Given the description of an element on the screen output the (x, y) to click on. 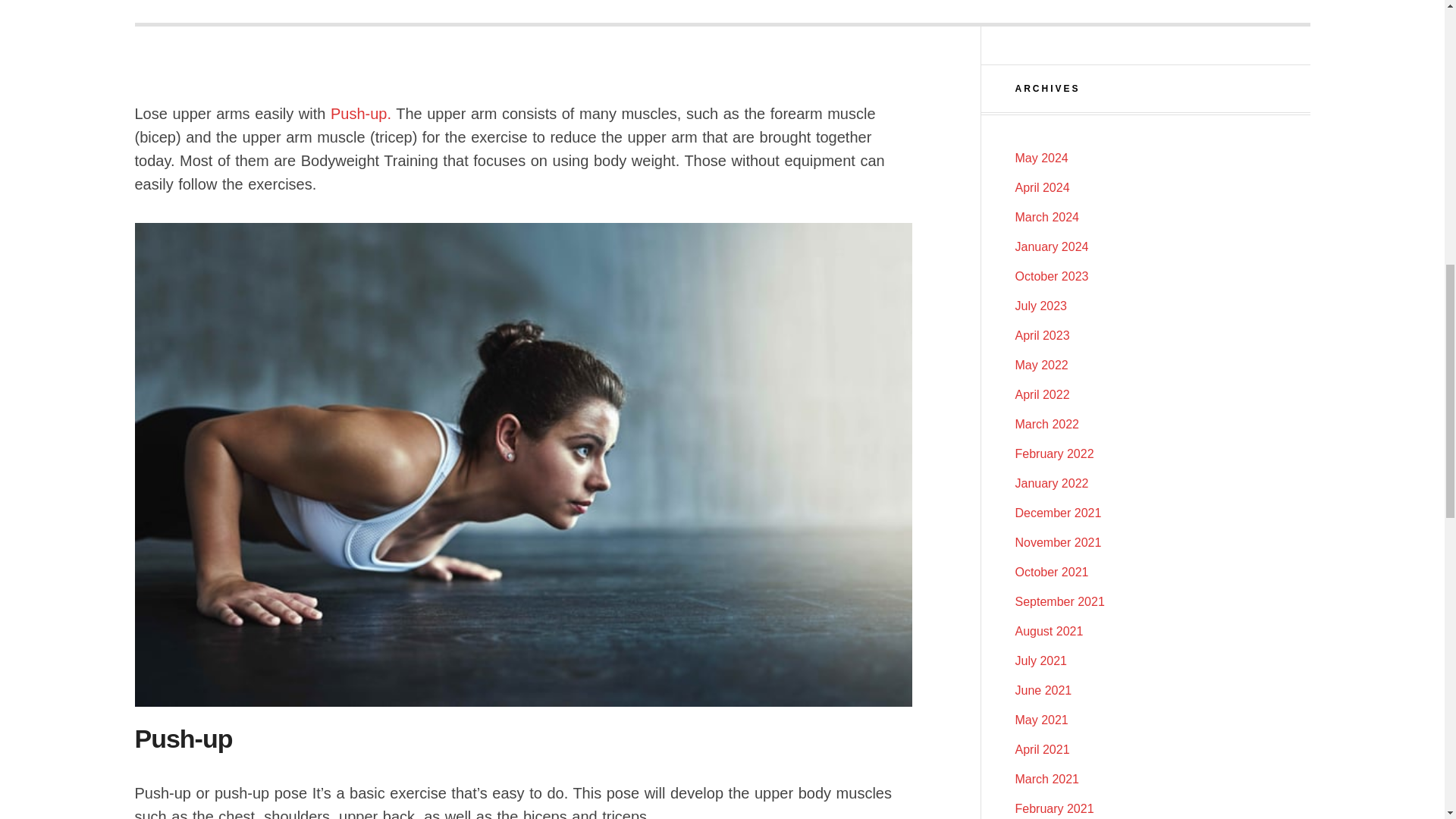
July 2021 (1040, 660)
February 2021 (1053, 808)
April 2021 (1041, 748)
October 2021 (1050, 571)
January 2022 (1050, 482)
August 2021 (1048, 631)
July 2023 (1040, 305)
March 2021 (1046, 779)
May 2024 (1040, 157)
Push-up. (360, 113)
